Given the description of an element on the screen output the (x, y) to click on. 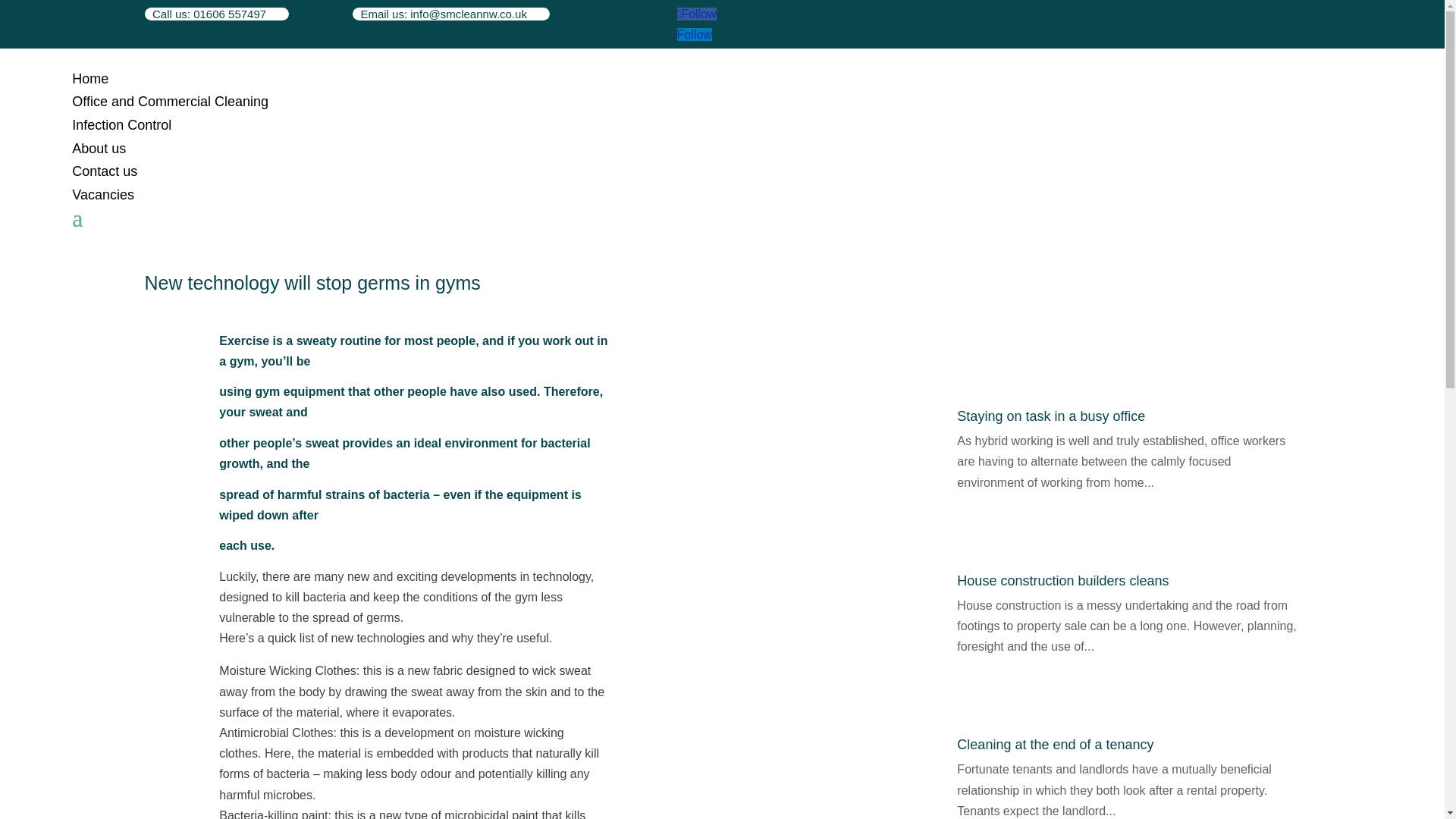
Infection Control (121, 124)
About us (98, 148)
Call us: 01606 557497 (216, 13)
Contact us (103, 171)
Office and Commercial Cleaning (169, 101)
Home (89, 78)
Follow on LinkedIn (694, 33)
Follow (696, 13)
